Given the description of an element on the screen output the (x, y) to click on. 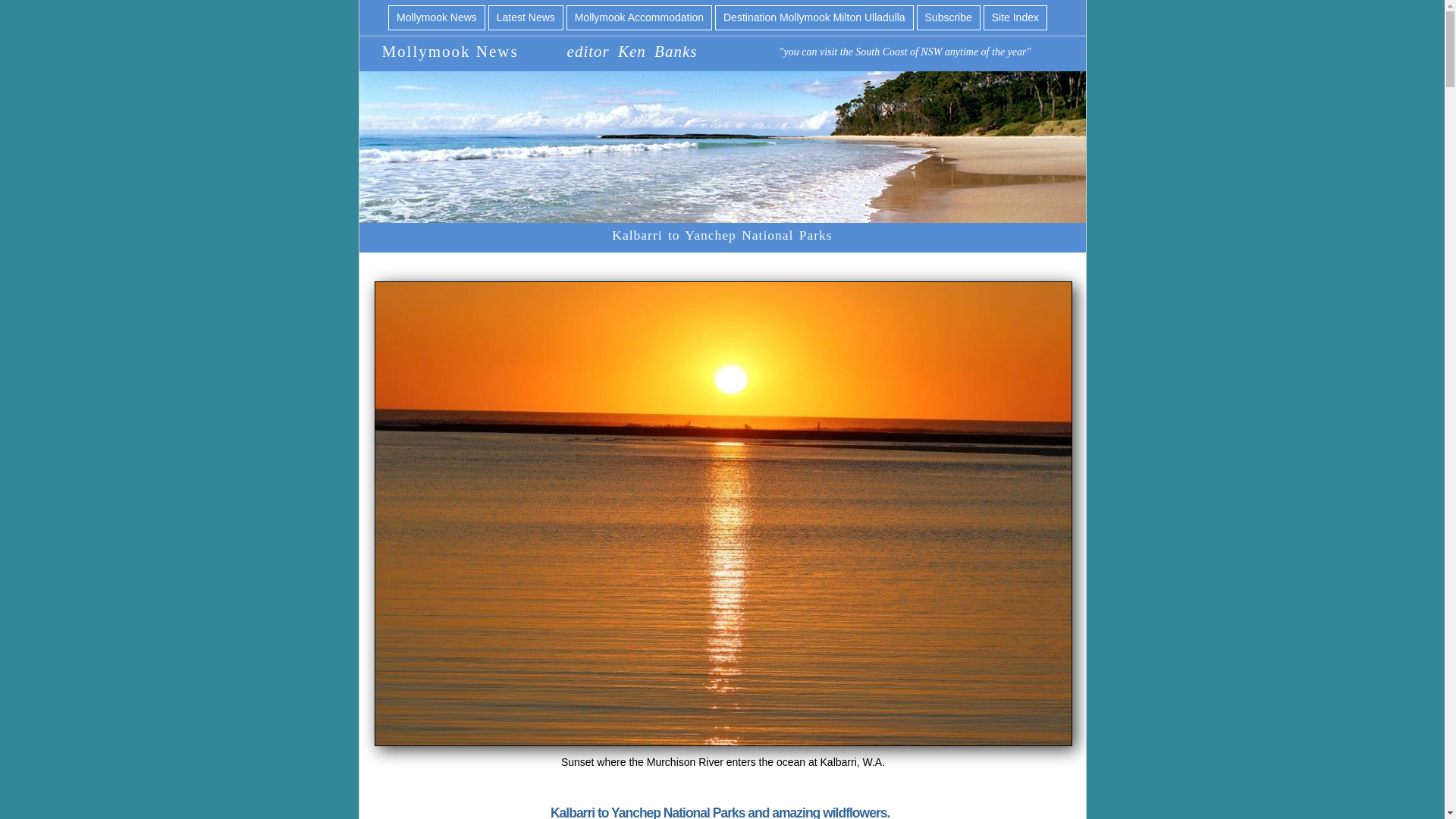
Destination Mollymook Milton Ulladulla (814, 17)
Site Index (1015, 17)
Mollymook News (436, 17)
Subscribe (948, 17)
Latest News (525, 17)
Mollymook Accommodation (638, 17)
